Given the description of an element on the screen output the (x, y) to click on. 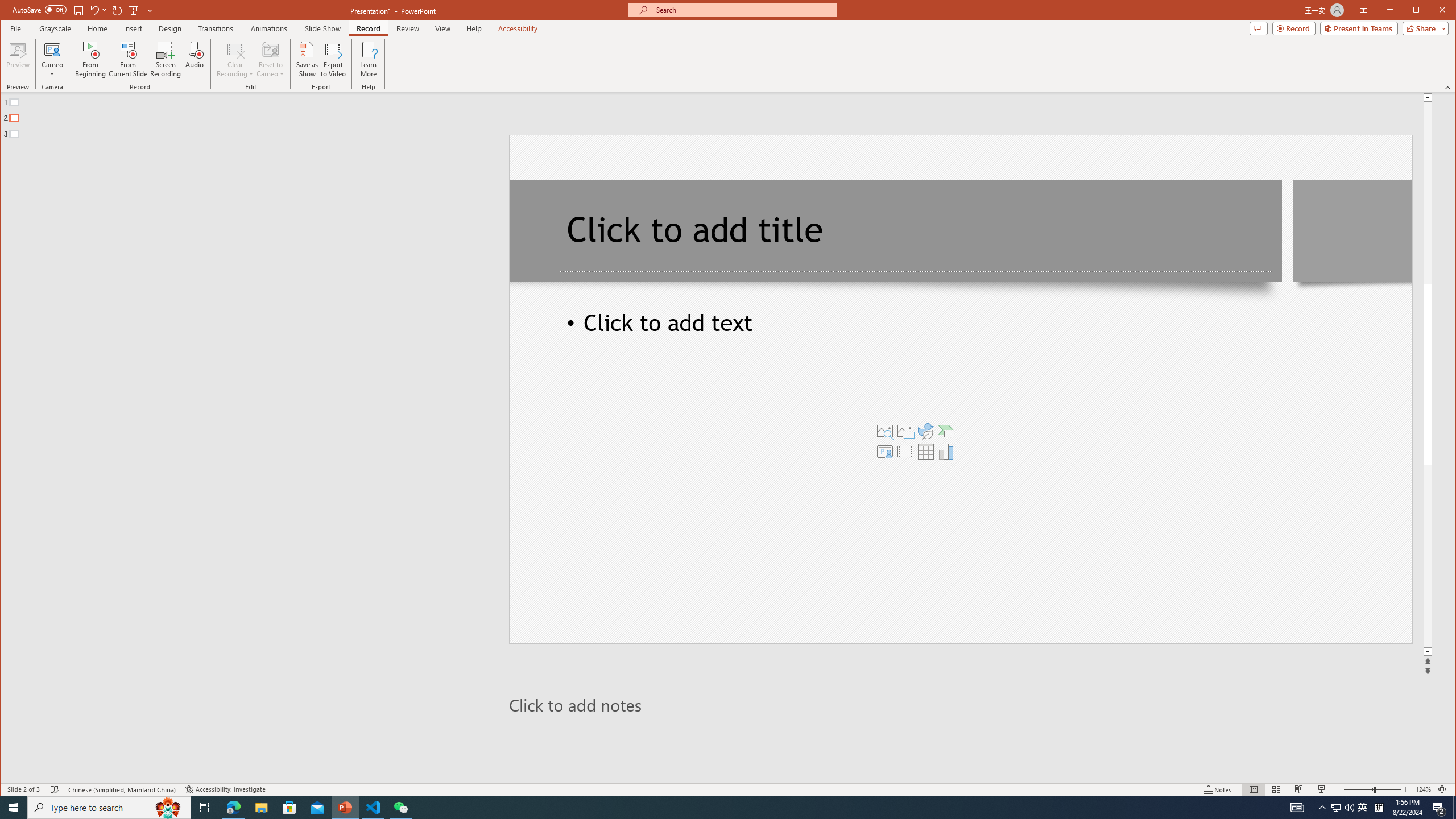
Insert Video (905, 451)
Export to Video (333, 59)
WeChat - 1 running window (400, 807)
Maximize (1432, 11)
